Given the description of an element on the screen output the (x, y) to click on. 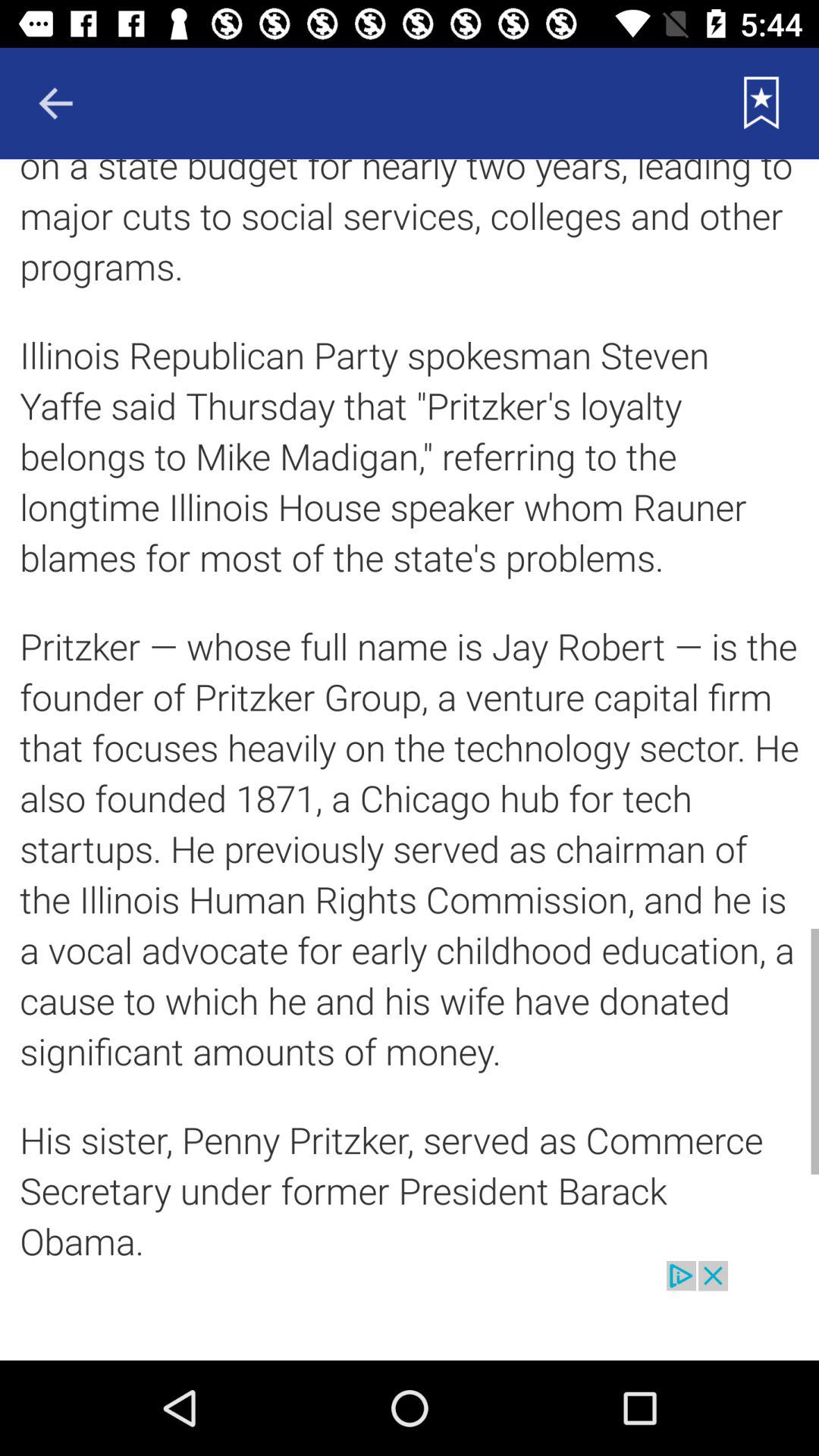
advertisement banner (409, 1310)
